Given the description of an element on the screen output the (x, y) to click on. 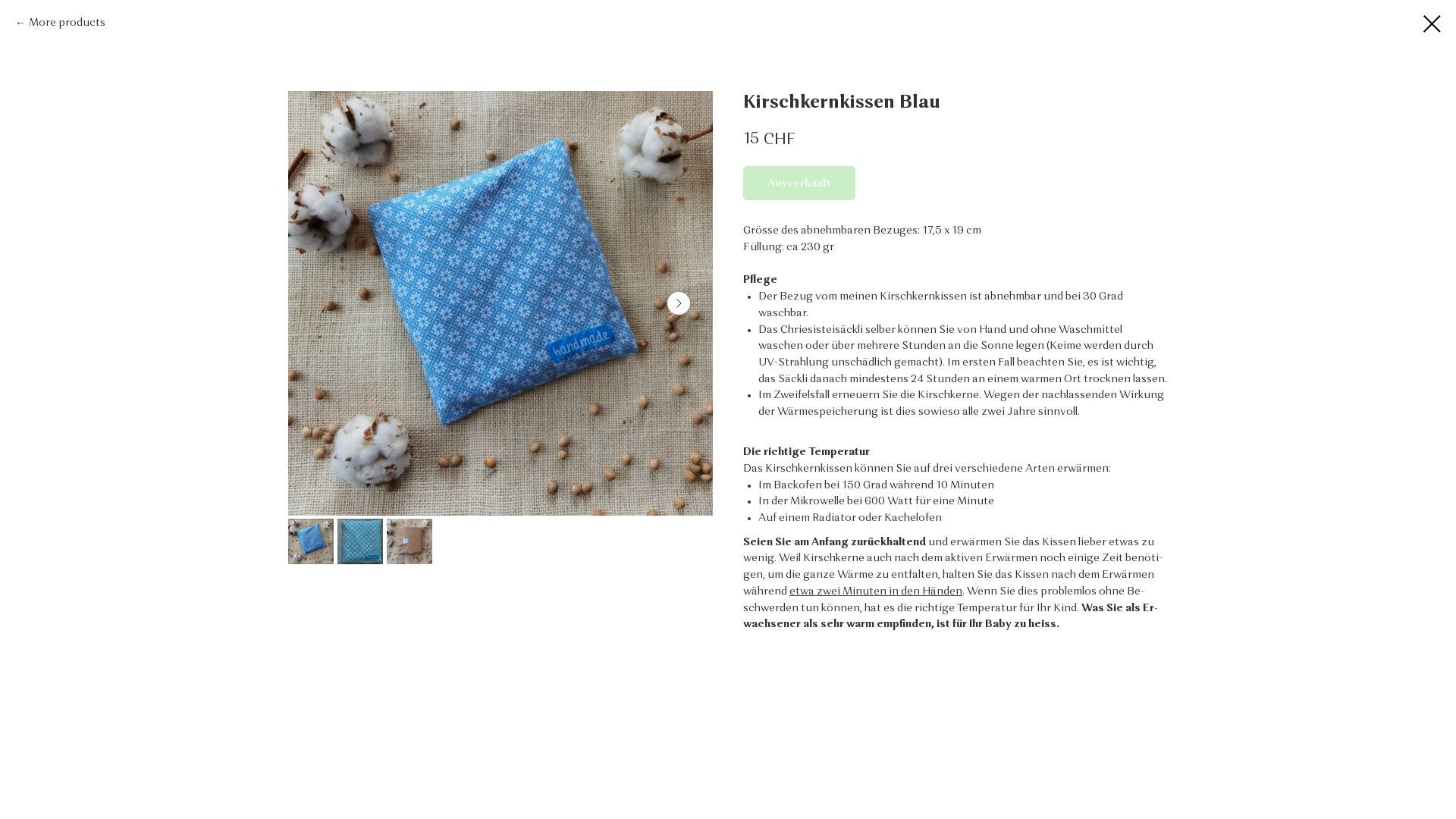
More products Element type: text (60, 23)
Ausverkauft Element type: text (799, 183)
